Given the description of an element on the screen output the (x, y) to click on. 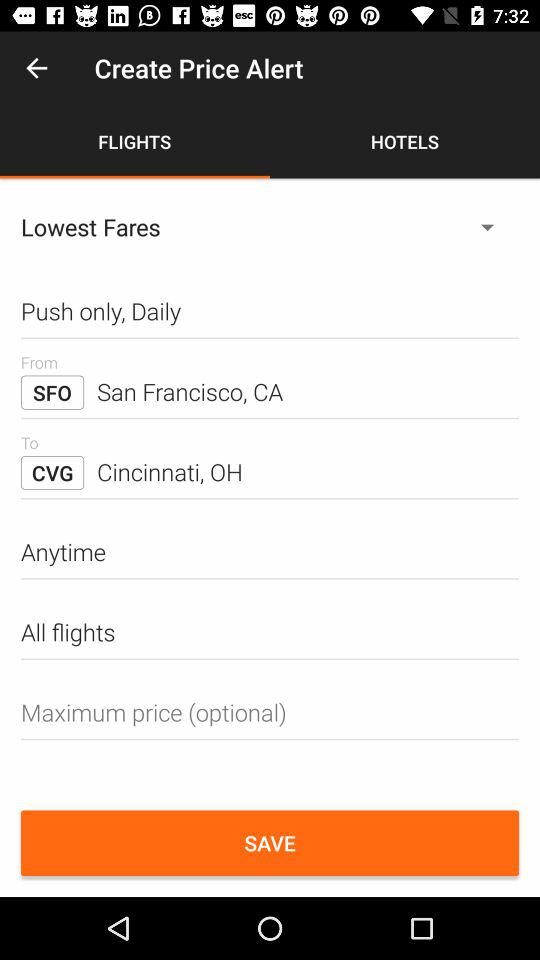
click button (270, 712)
